Given the description of an element on the screen output the (x, y) to click on. 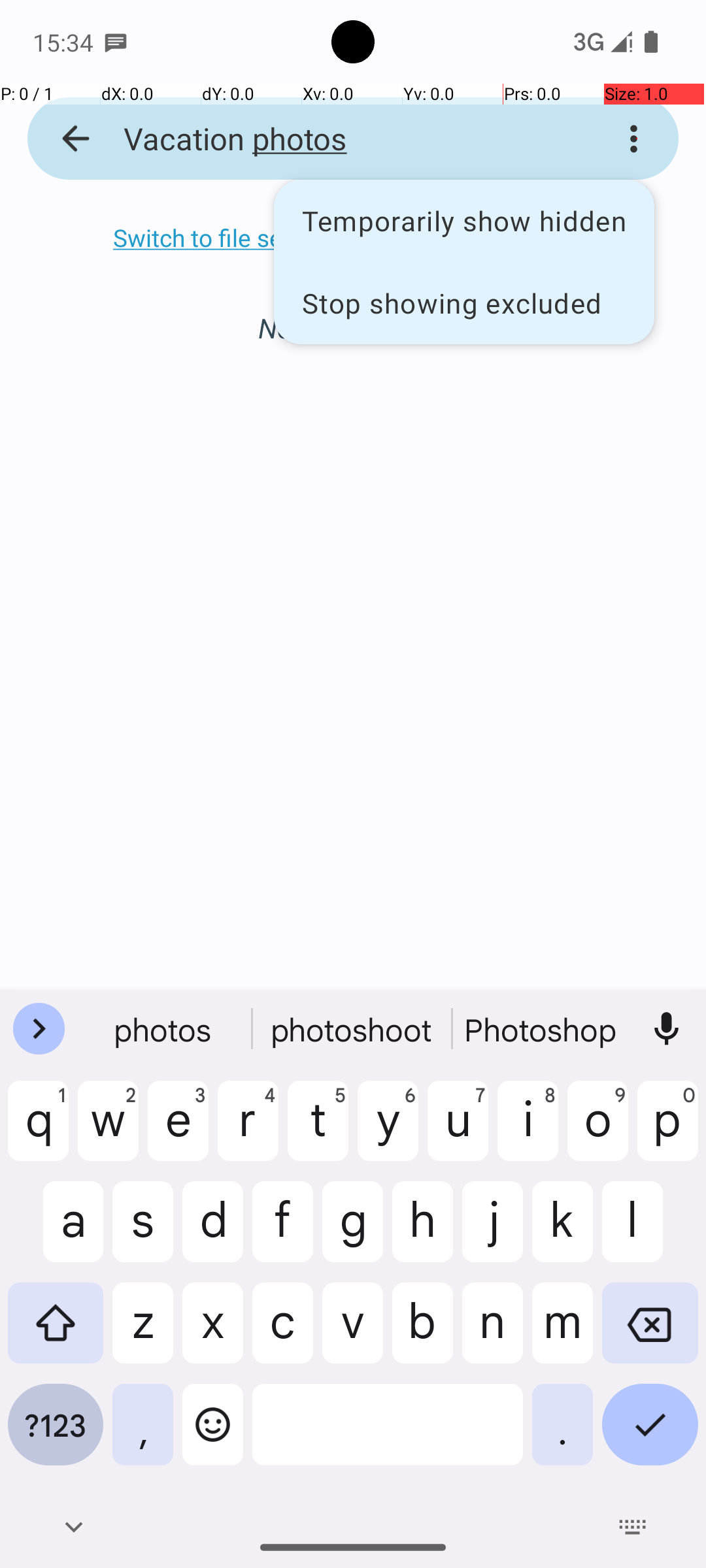
Temporarily show hidden Element type: android.widget.TextView (463, 220)
Stop showing excluded Element type: android.widget.TextView (463, 302)
